Given the description of an element on the screen output the (x, y) to click on. 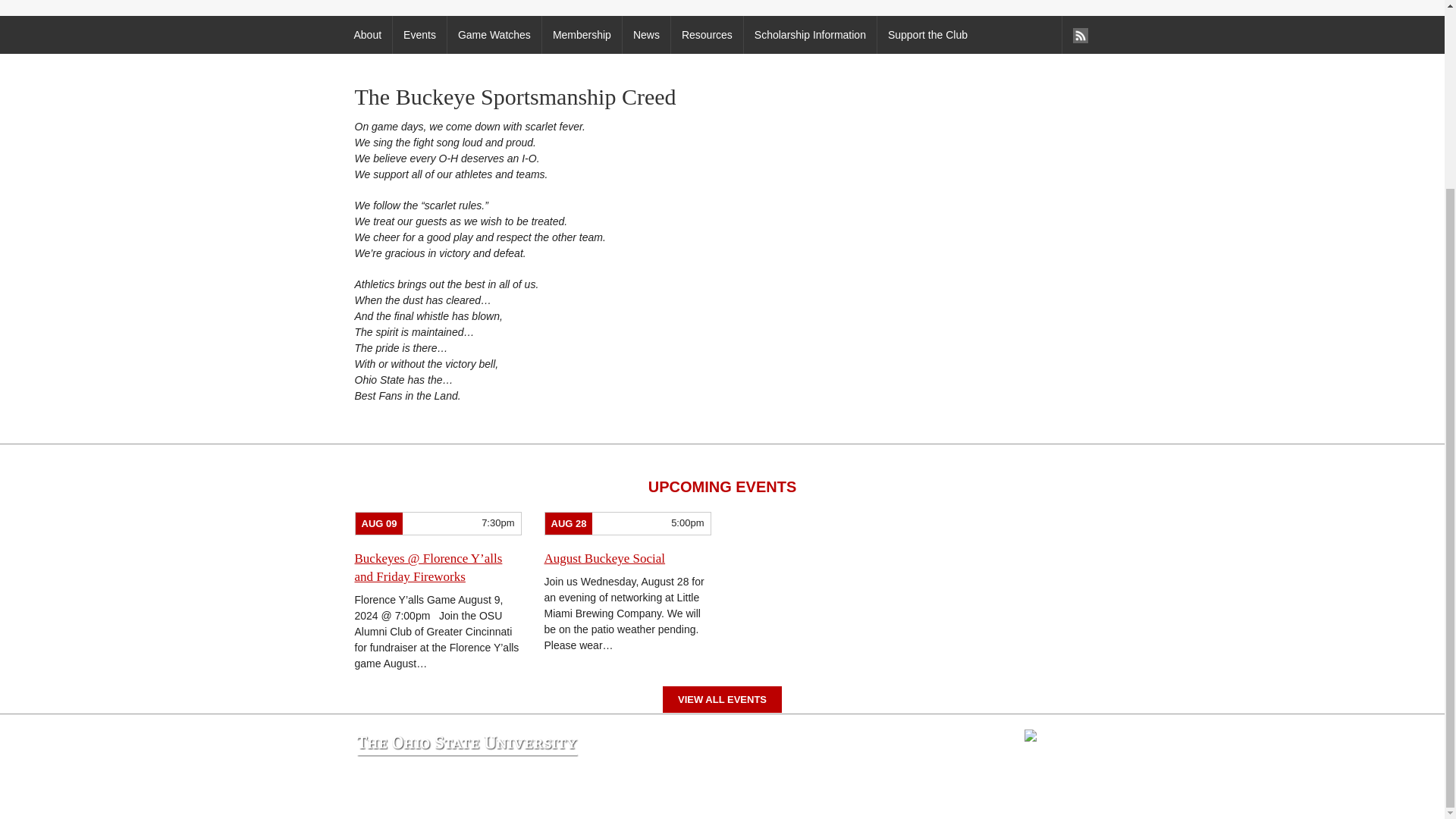
Scholarship Information (809, 34)
Game Watches (493, 34)
Support the Club (927, 34)
The Ohio State University home page (466, 746)
VIEW ALL EVENTS (721, 699)
Events (418, 34)
Membership (581, 34)
Resources (705, 34)
About (366, 34)
August Buckeye Social (604, 558)
